Given the description of an element on the screen output the (x, y) to click on. 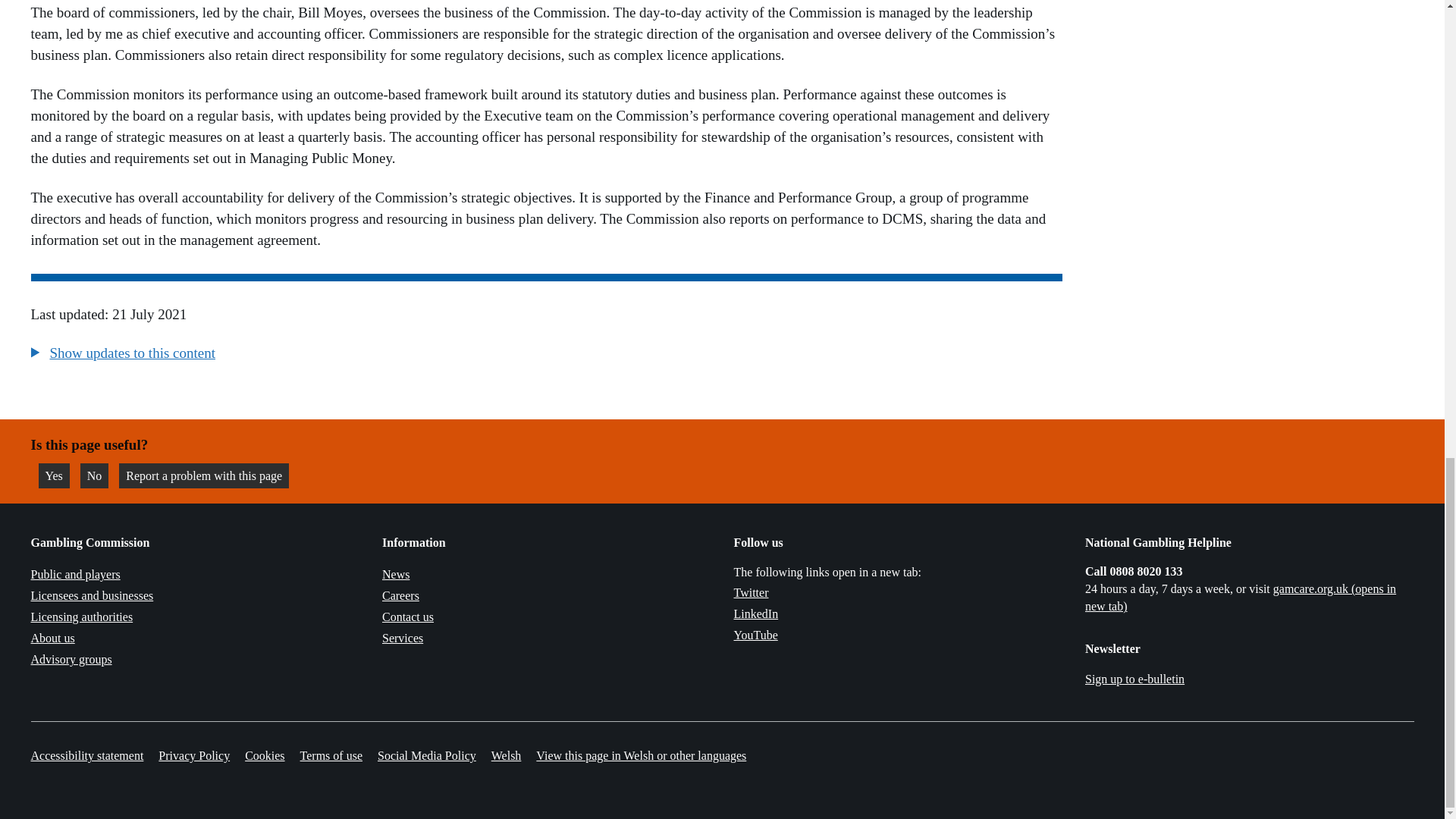
Report a problem with this page (52, 475)
Link opens in a new tab (94, 475)
Link opens in a new tab (203, 475)
Link opens in a new tab (1240, 597)
Link opens in a new tab (755, 634)
